Given the description of an element on the screen output the (x, y) to click on. 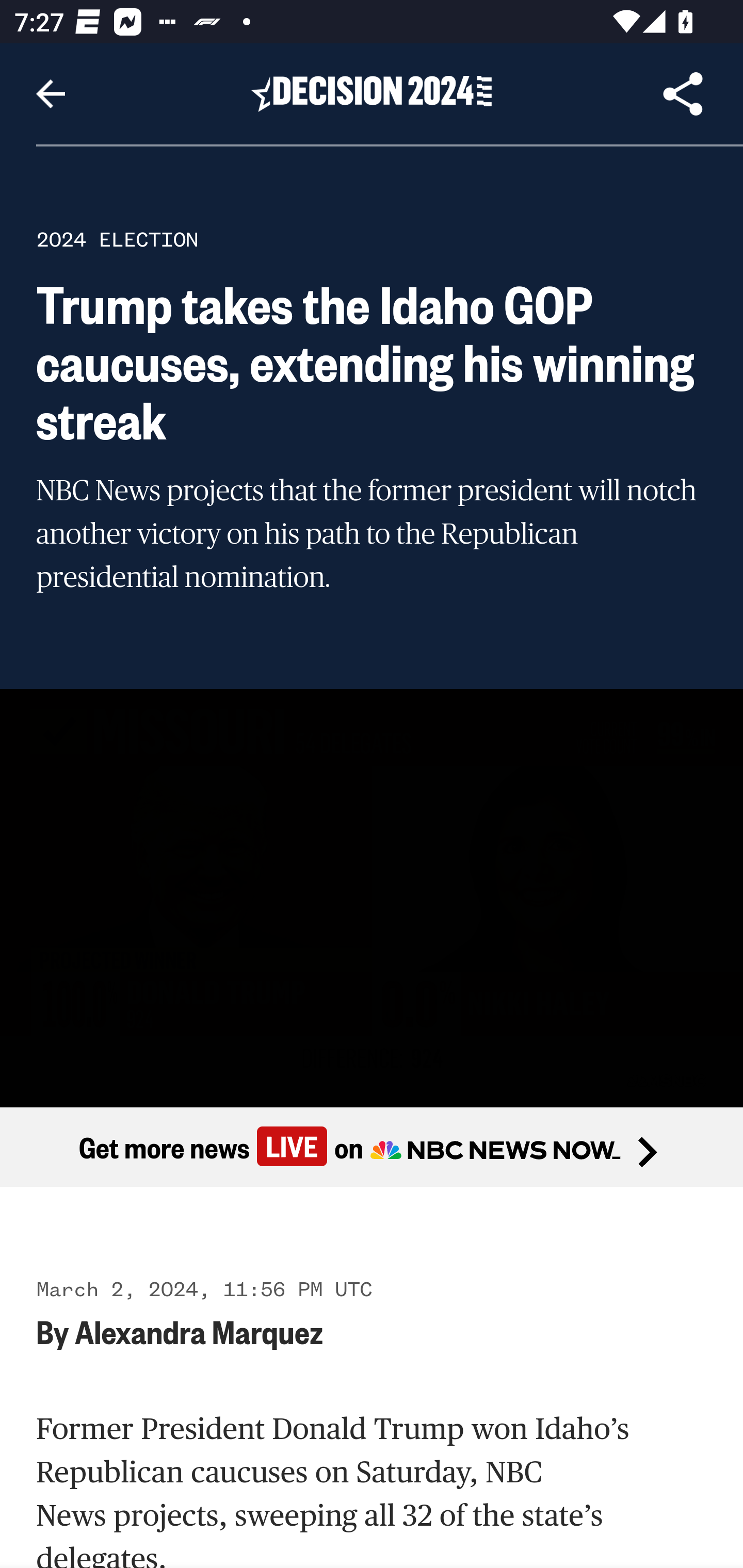
Navigate up (50, 93)
Share Article, button (683, 94)
Header, Decision 2024 (371, 93)
2024 ELECTION (117, 239)
Get more news Live on Get more news Live on (371, 1147)
